Given the description of an element on the screen output the (x, y) to click on. 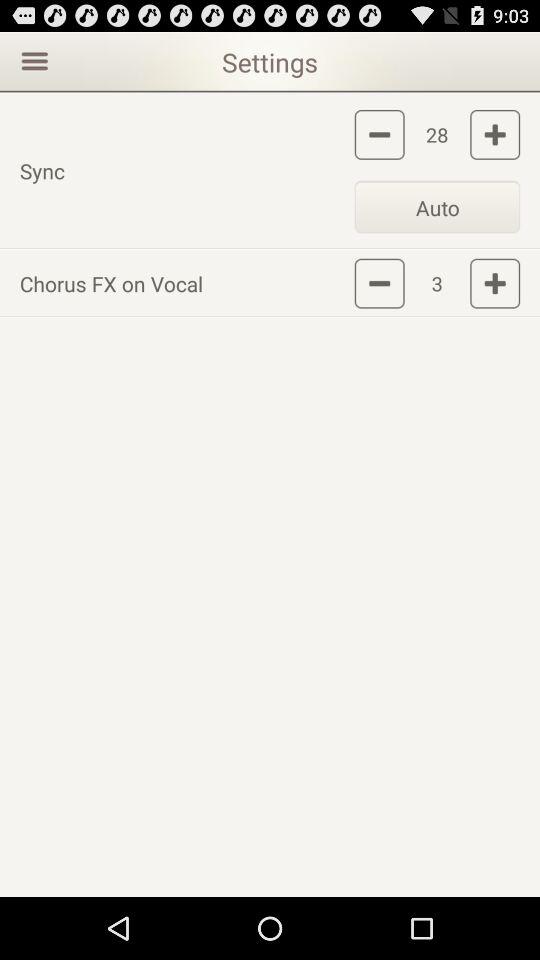
select app to the left of the settings item (32, 60)
